Given the description of an element on the screen output the (x, y) to click on. 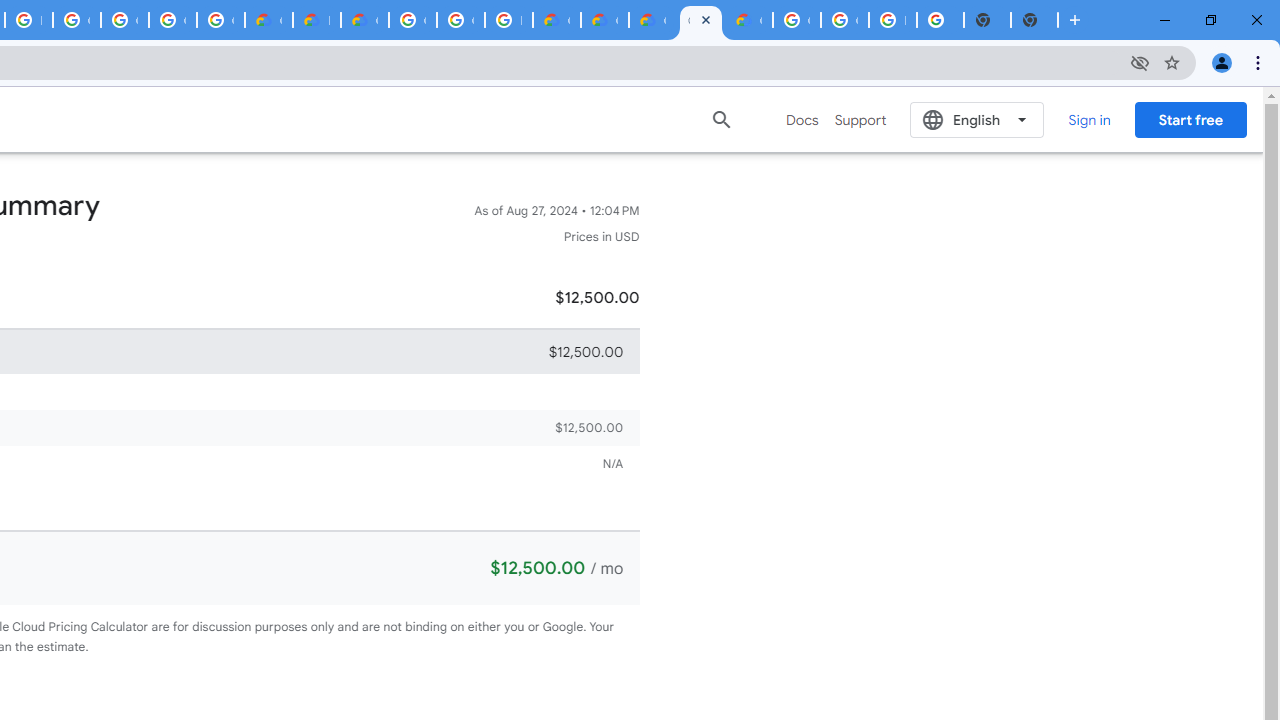
Google Cloud Platform (412, 20)
Google Cloud Estimate Summary (700, 20)
Google Workspace - Specific Terms (220, 20)
Docs (802, 119)
Support (860, 119)
Google Cloud Estimate Summary (652, 20)
Customer Care | Google Cloud (556, 20)
New Tab (1034, 20)
